Given the description of an element on the screen output the (x, y) to click on. 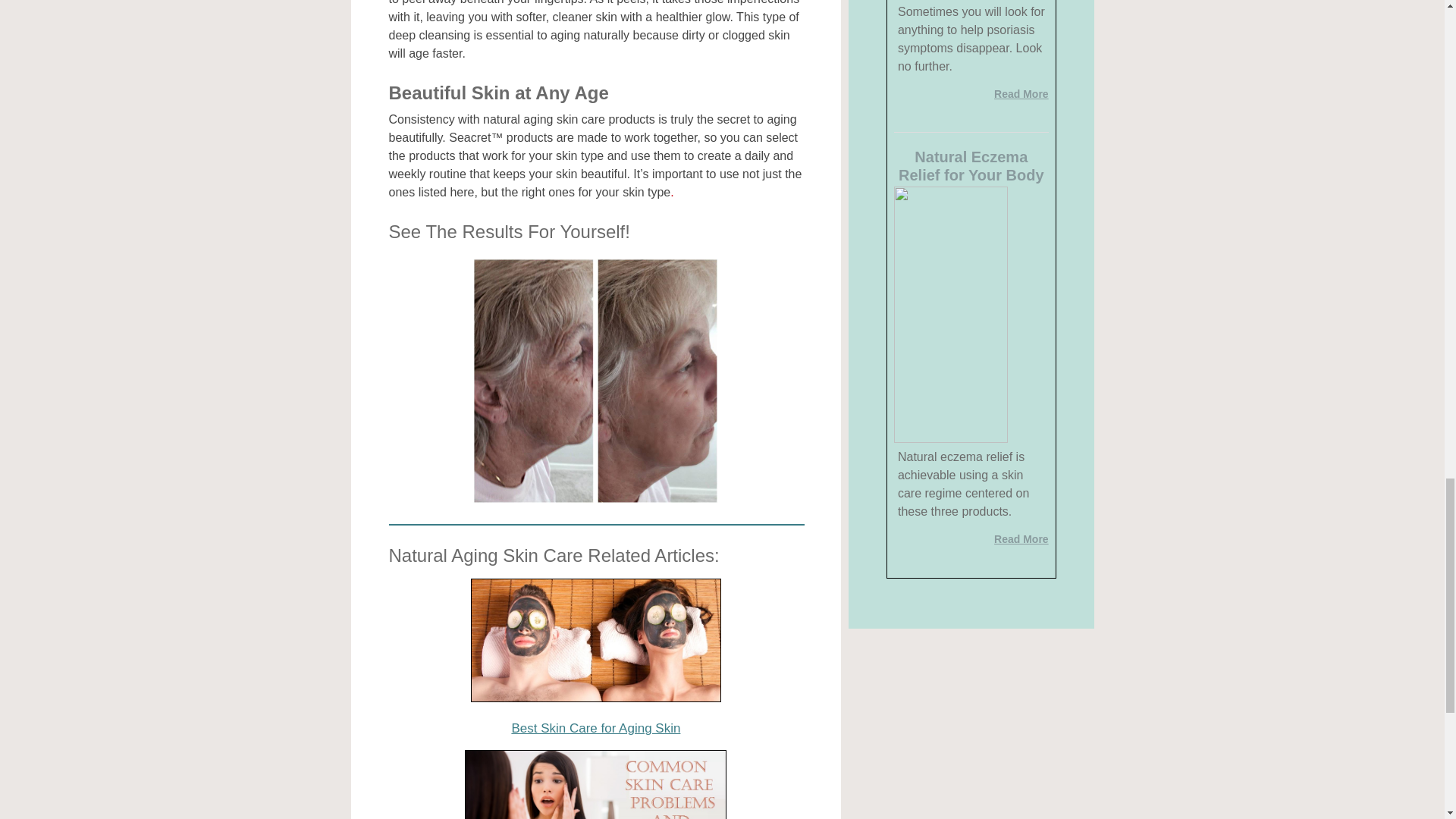
Read More (1021, 93)
Natural Aging Skin Care Results (595, 380)
Natural Eczema Relief for Your Body (970, 165)
Read More (1021, 539)
Go to Before and After Skin Care Photos Show Proven Results (595, 502)
Best Skin Care for Aging Skin (595, 727)
Go to Best Skin Care for Aging Skin (595, 697)
